Given the description of an element on the screen output the (x, y) to click on. 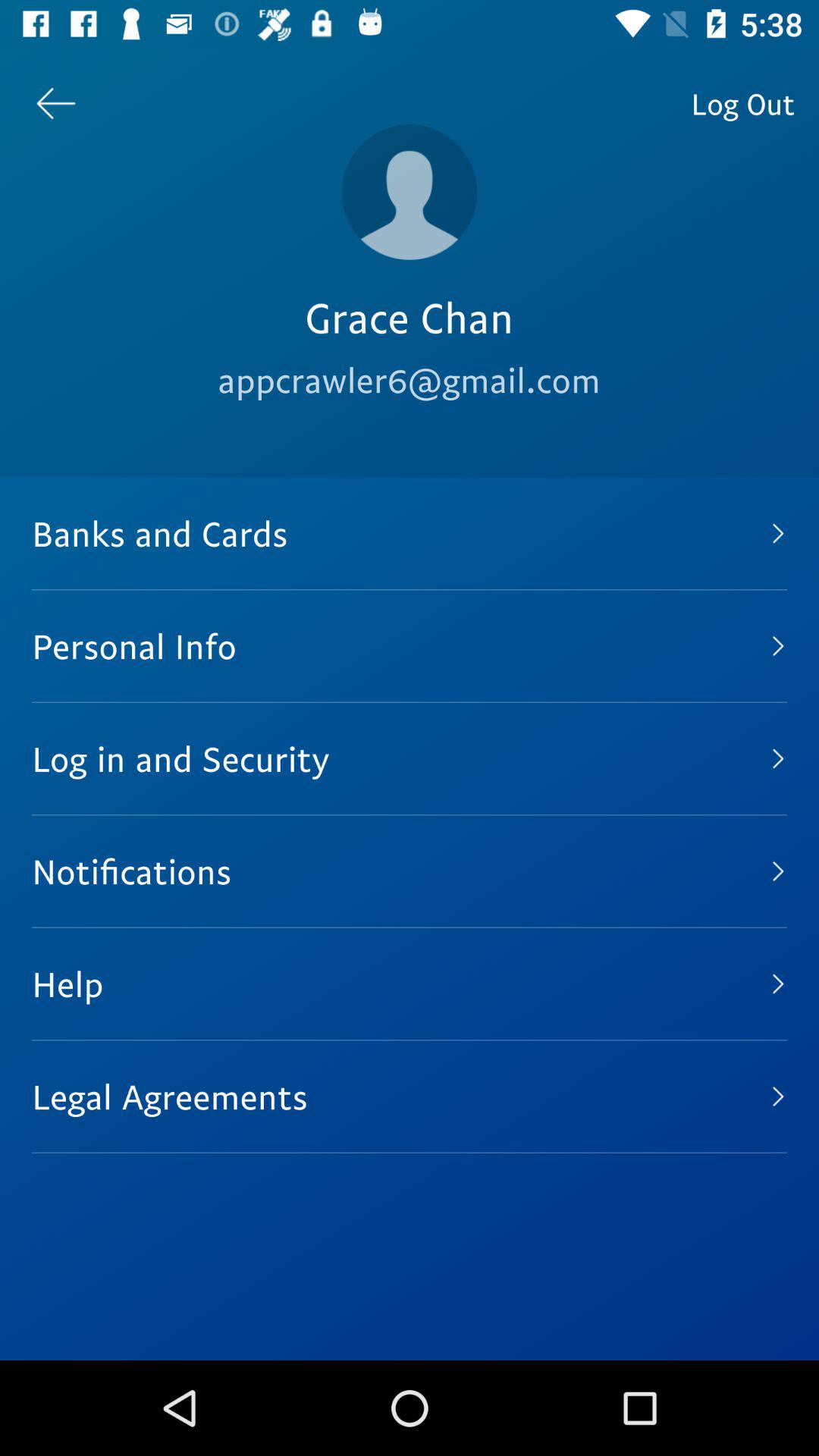
click item next to the log out item (409, 191)
